Given the description of an element on the screen output the (x, y) to click on. 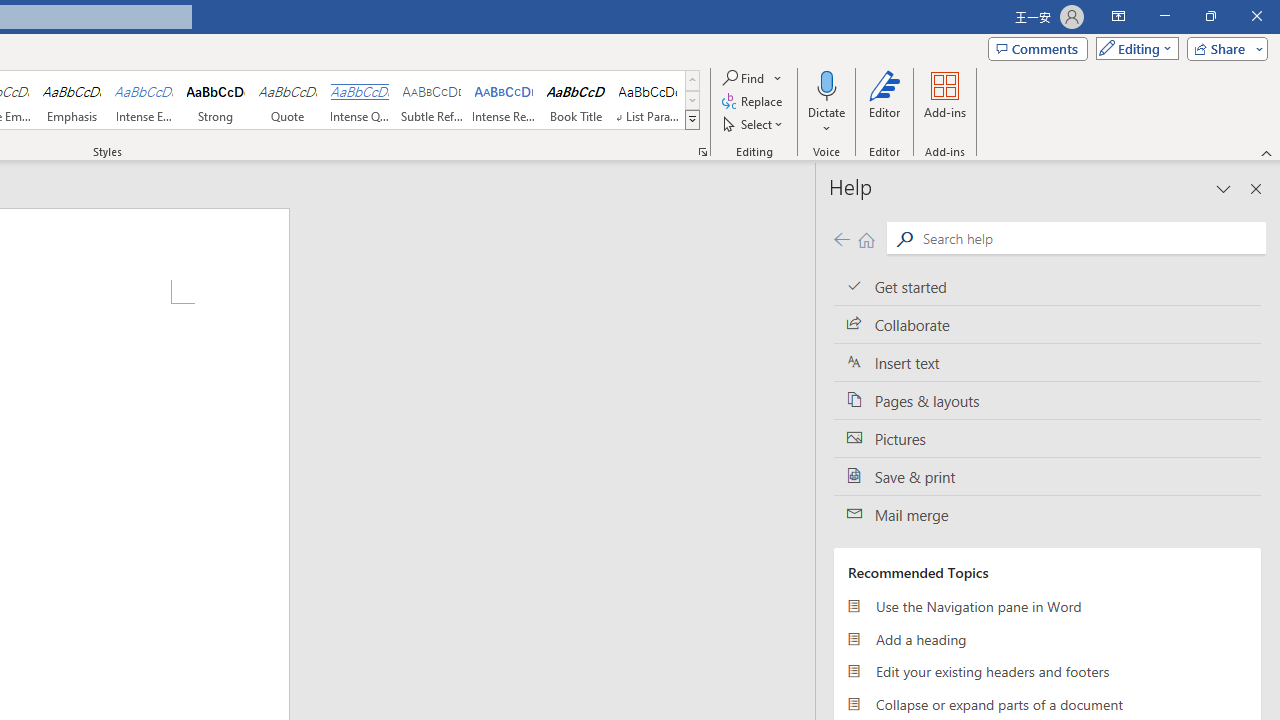
Ribbon Display Options (1118, 16)
Intense Emphasis (143, 100)
Intense Quote (359, 100)
Intense Reference (504, 100)
Styles... (702, 151)
Collaborate (1047, 325)
Use the Navigation pane in Word (1047, 605)
Emphasis (71, 100)
Subtle Reference (431, 100)
Select (754, 124)
